Given the description of an element on the screen output the (x, y) to click on. 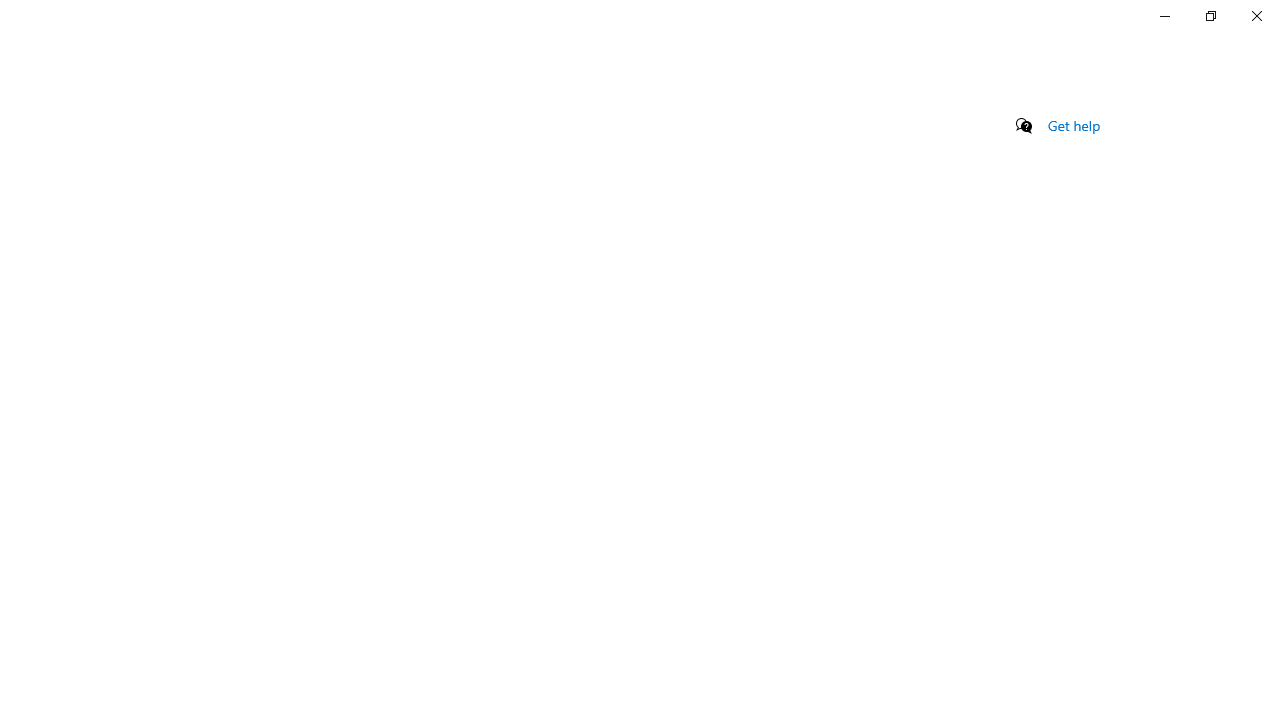
Close Settings (1256, 15)
Restore Settings (1210, 15)
Minimize Settings (1164, 15)
Get help (1074, 125)
